Given the description of an element on the screen output the (x, y) to click on. 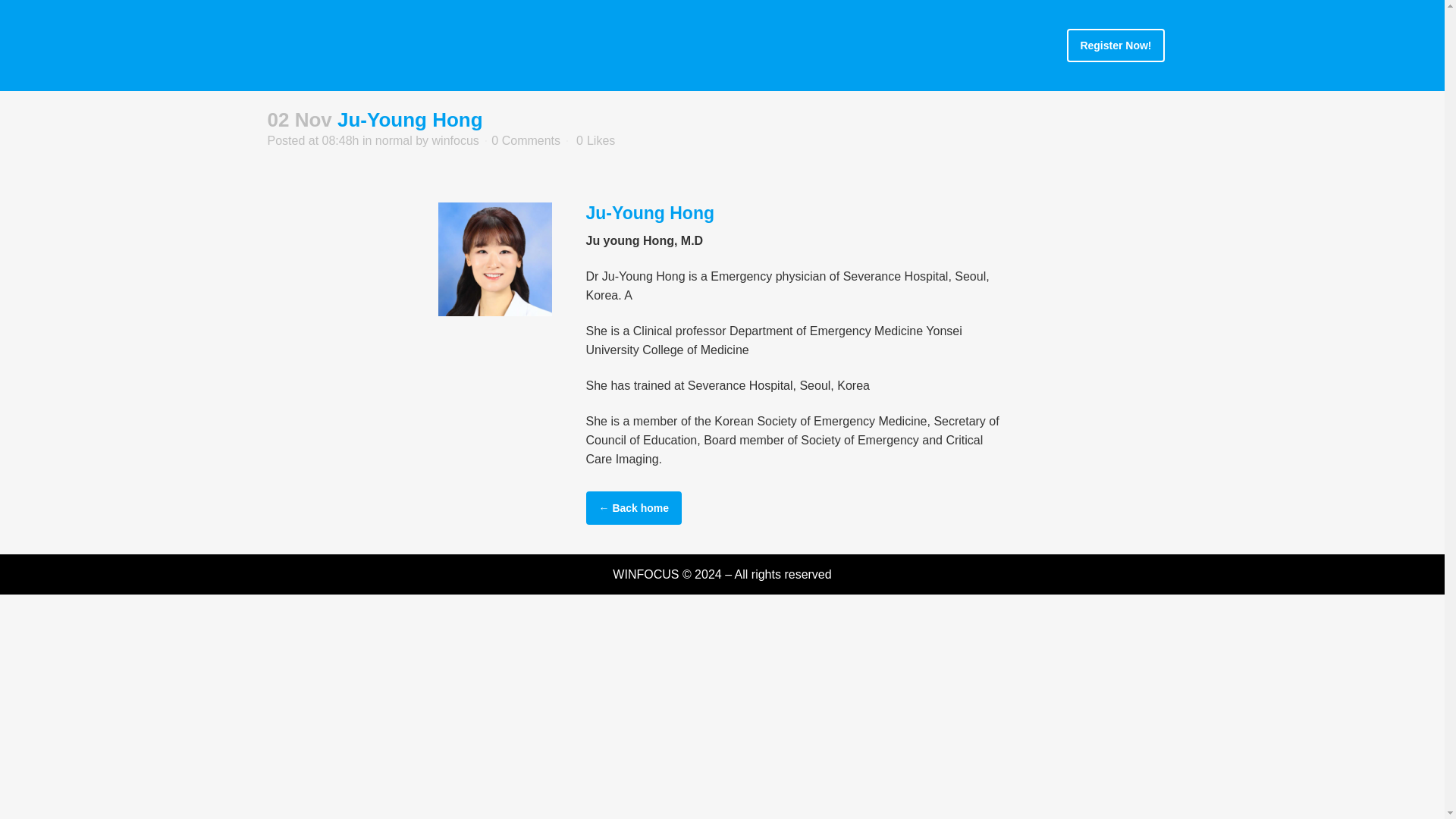
winfocus (455, 140)
0 Comments (526, 140)
Like this (595, 140)
0 Likes (595, 140)
normal (393, 140)
Register Now! (1115, 45)
